Given the description of an element on the screen output the (x, y) to click on. 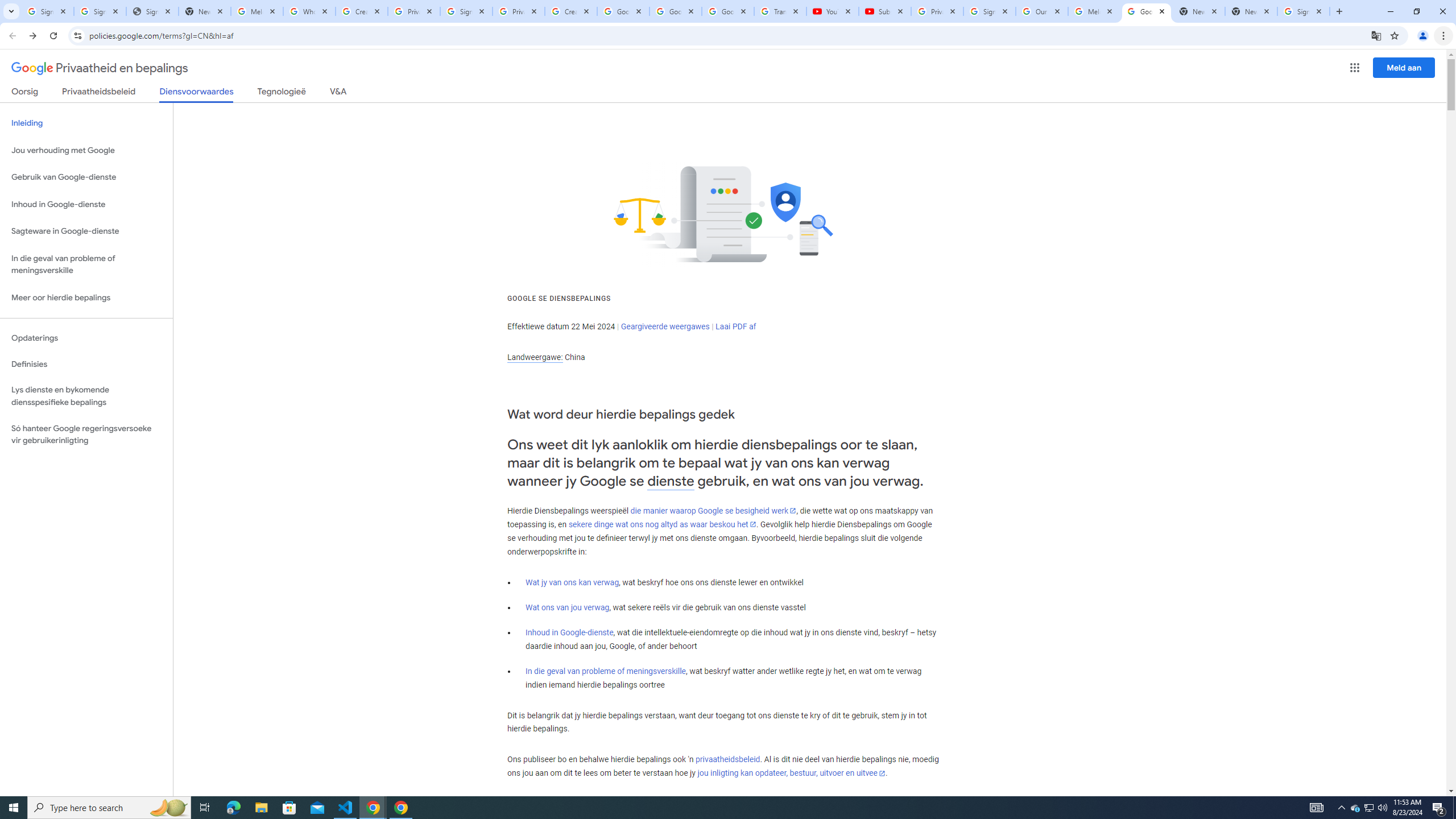
jou inligting kan opdateer, bestuur, uitvoer en uitvee (791, 773)
Who is my administrator? - Google Account Help (309, 11)
Lys dienste en bykomende diensspesifieke bepalings (86, 396)
Sign in - Google Accounts (99, 11)
Definisies (86, 363)
Wat jy van ons kan verwag (571, 582)
Meer oor hierdie bepalings (86, 298)
Sign in - Google Accounts (47, 11)
